Given the description of an element on the screen output the (x, y) to click on. 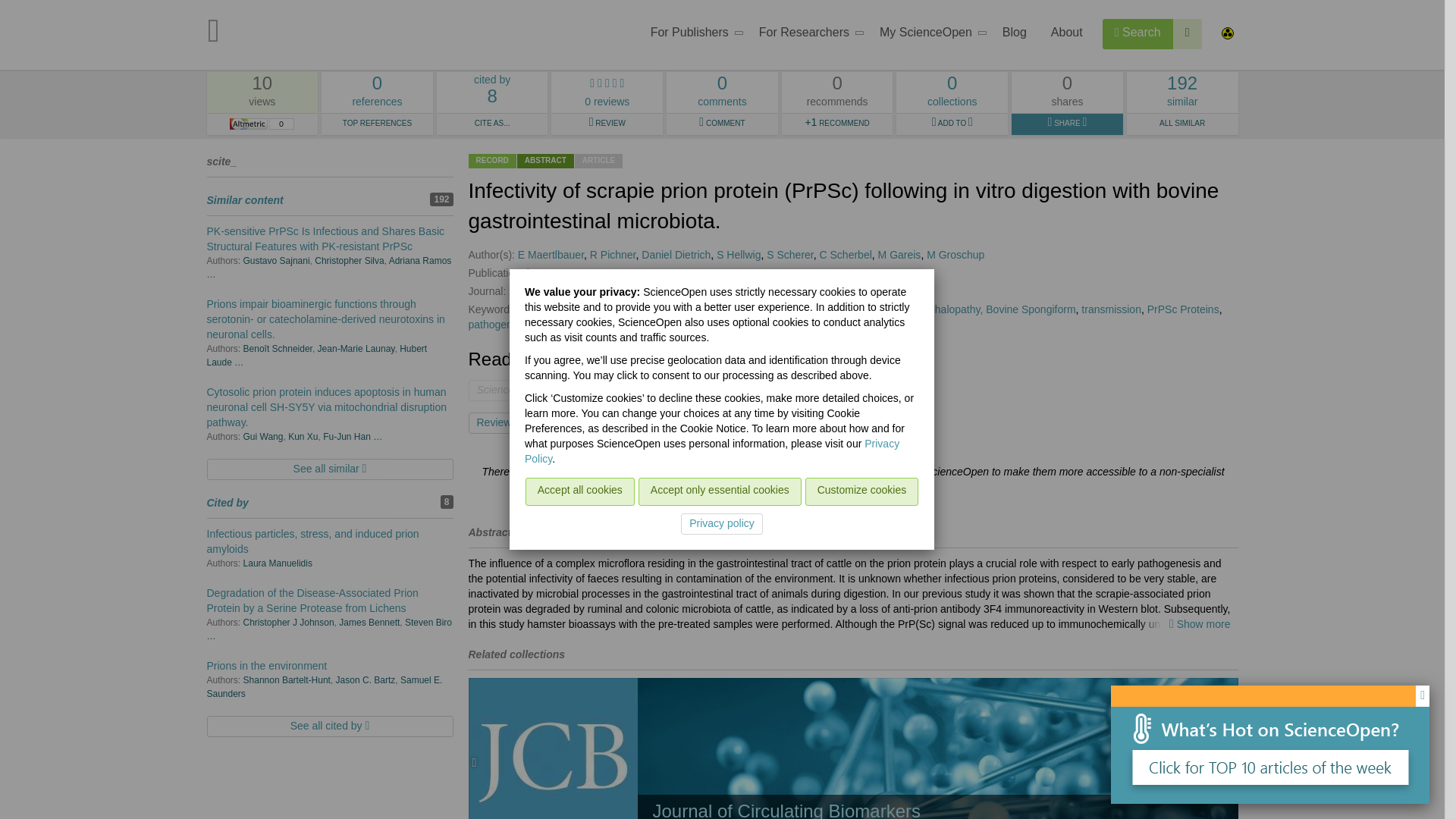
Blog (1014, 34)
Advanced search (1187, 33)
For Publishers (692, 34)
Toggle accessible mode (1226, 34)
My ScienceOpen (928, 34)
Search (1137, 33)
Close (1422, 695)
About (1066, 34)
For Researchers (376, 92)
Bookmark (806, 34)
